Given the description of an element on the screen output the (x, y) to click on. 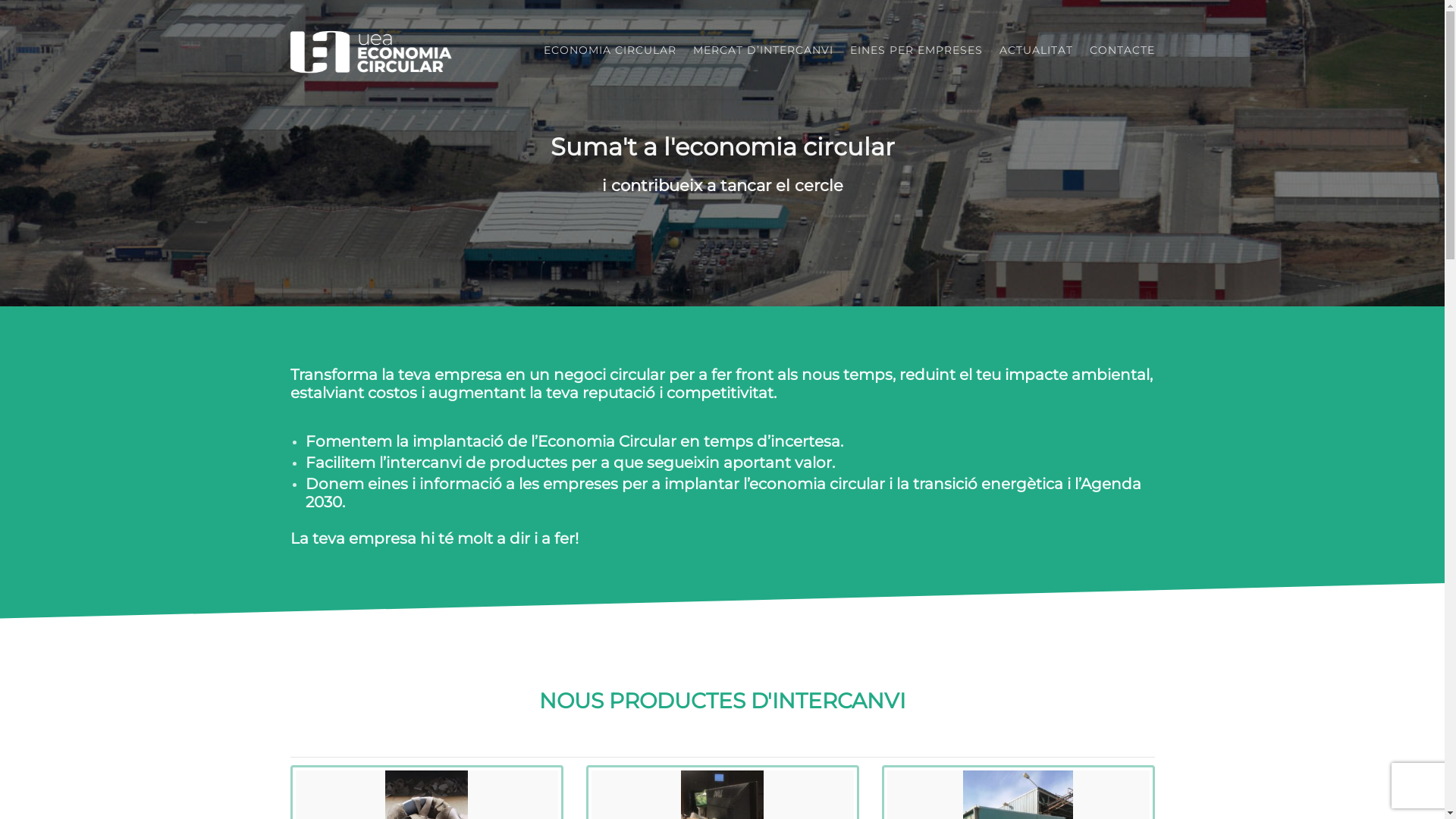
EINES PER EMPRESES Element type: text (916, 50)
CONTACTE Element type: text (1117, 50)
ACTUALITAT Element type: text (1035, 50)
ECONOMIA CIRCULAR Element type: text (609, 50)
